Given the description of an element on the screen output the (x, y) to click on. 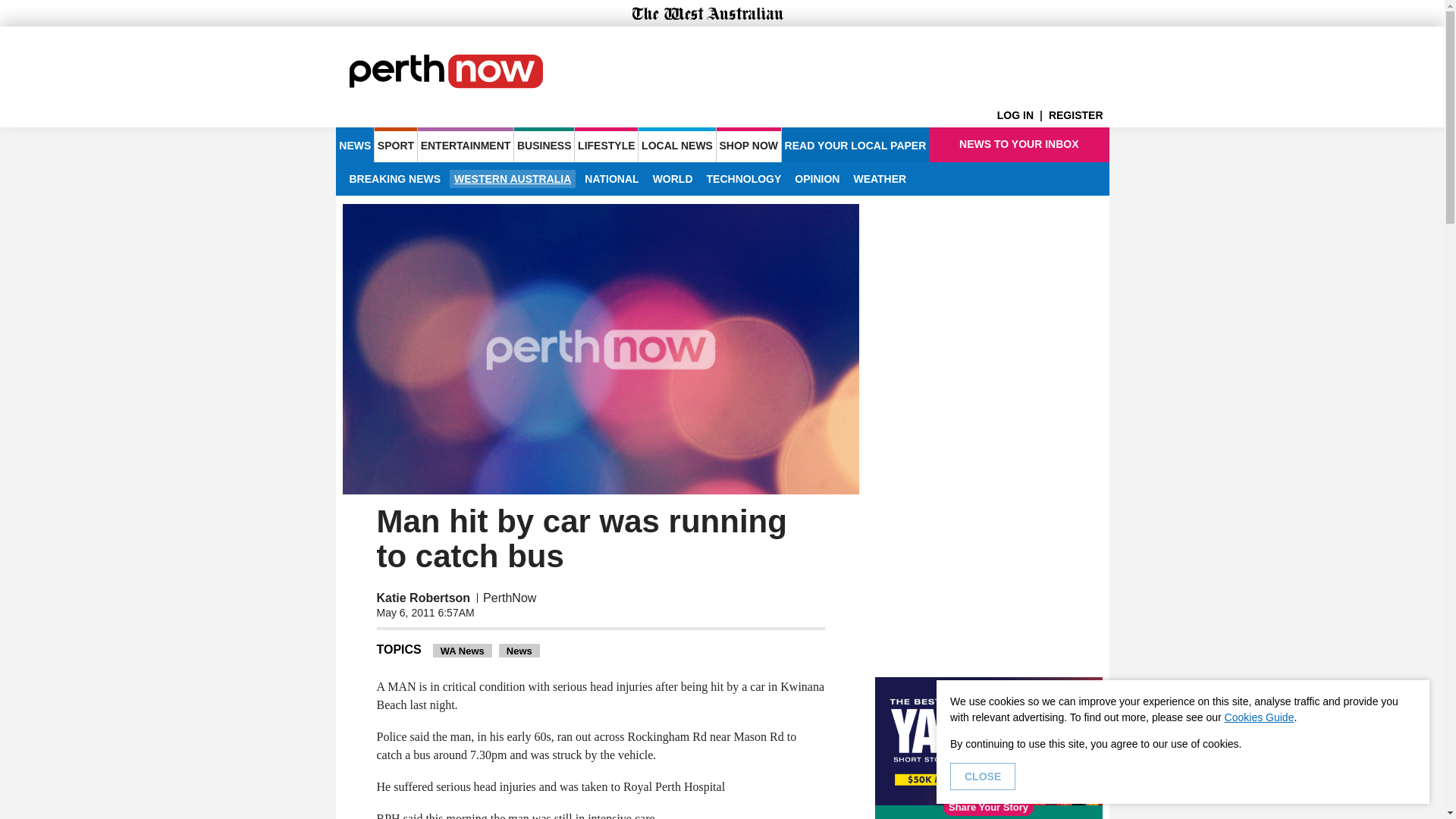
LOG IN (1022, 115)
ENTERTAINMENT (465, 144)
NEWS (354, 144)
BUSINESS (543, 144)
REGISTER (1078, 115)
SPORT (395, 144)
